Given the description of an element on the screen output the (x, y) to click on. 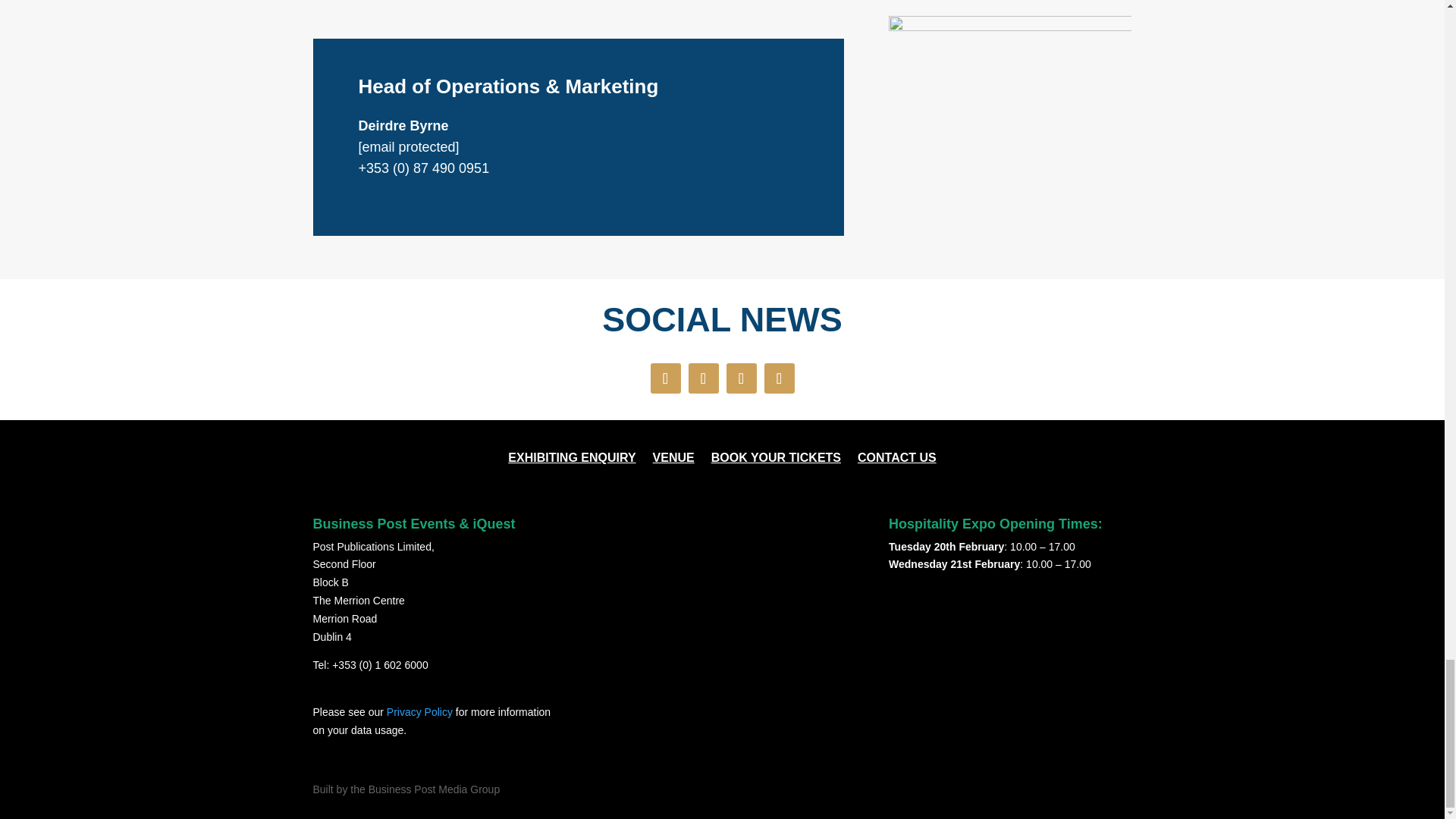
EXHIBITING ENQUIRY (571, 460)
BOOK YOUR TICKETS (776, 460)
VENUE (673, 460)
Privacy Policy (419, 711)
CONTACT US (896, 460)
Follow on Facebook (665, 378)
Follow on Instagram (741, 378)
Follow on X (703, 378)
Screenshot 2023-11-23 123314 (1009, 136)
Follow on LinkedIn (779, 378)
